Given the description of an element on the screen output the (x, y) to click on. 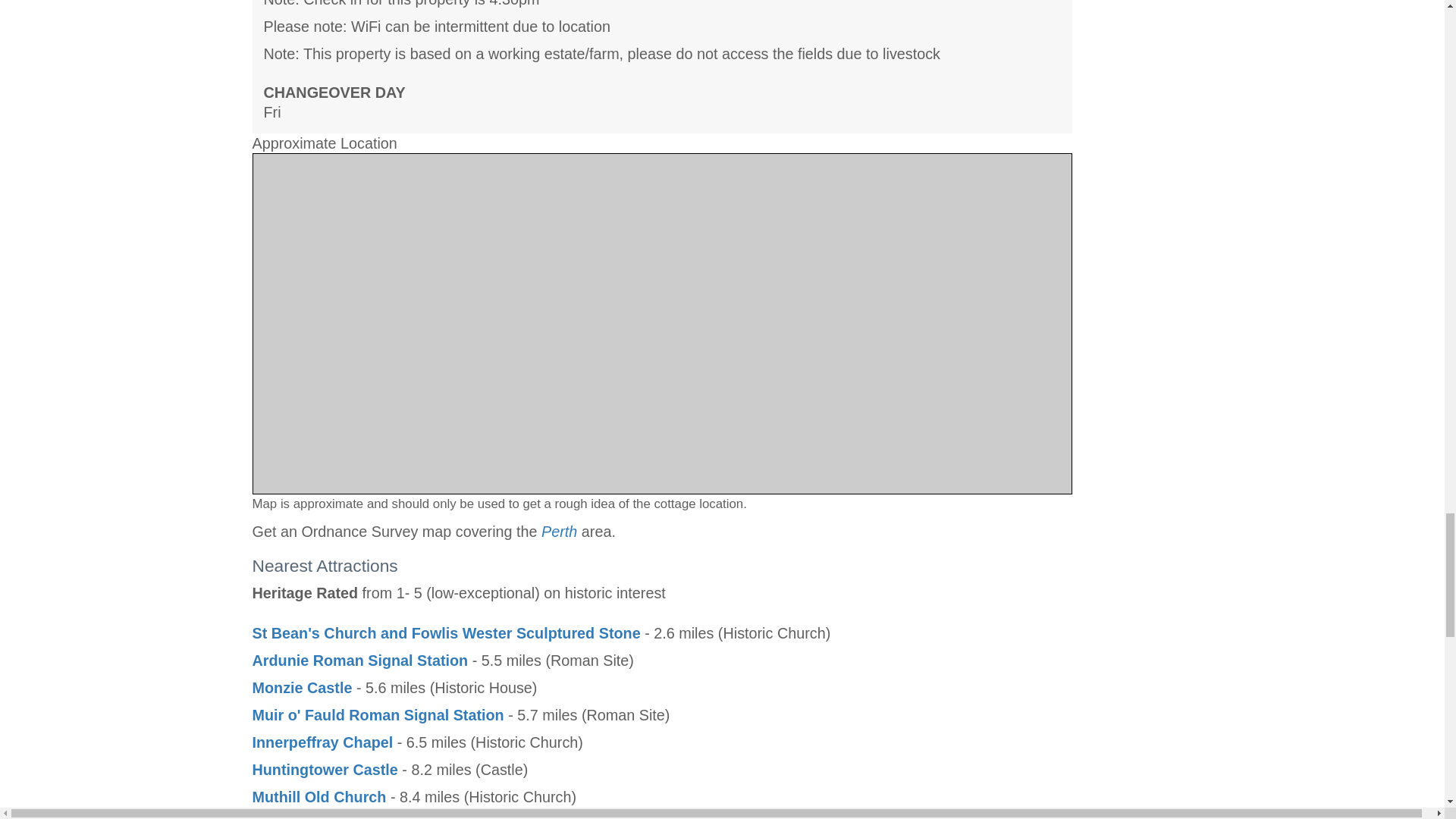
Monzie Castle, Historic House (301, 687)
Muir o' Fauld Roman Signal Station, Roman Site (377, 714)
Ardunie Roman Signal Station, Roman Site (359, 660)
Huntingtower Castle, Castle (324, 769)
Innerpeffray Chapel, Historic Church (322, 742)
